Given the description of an element on the screen output the (x, y) to click on. 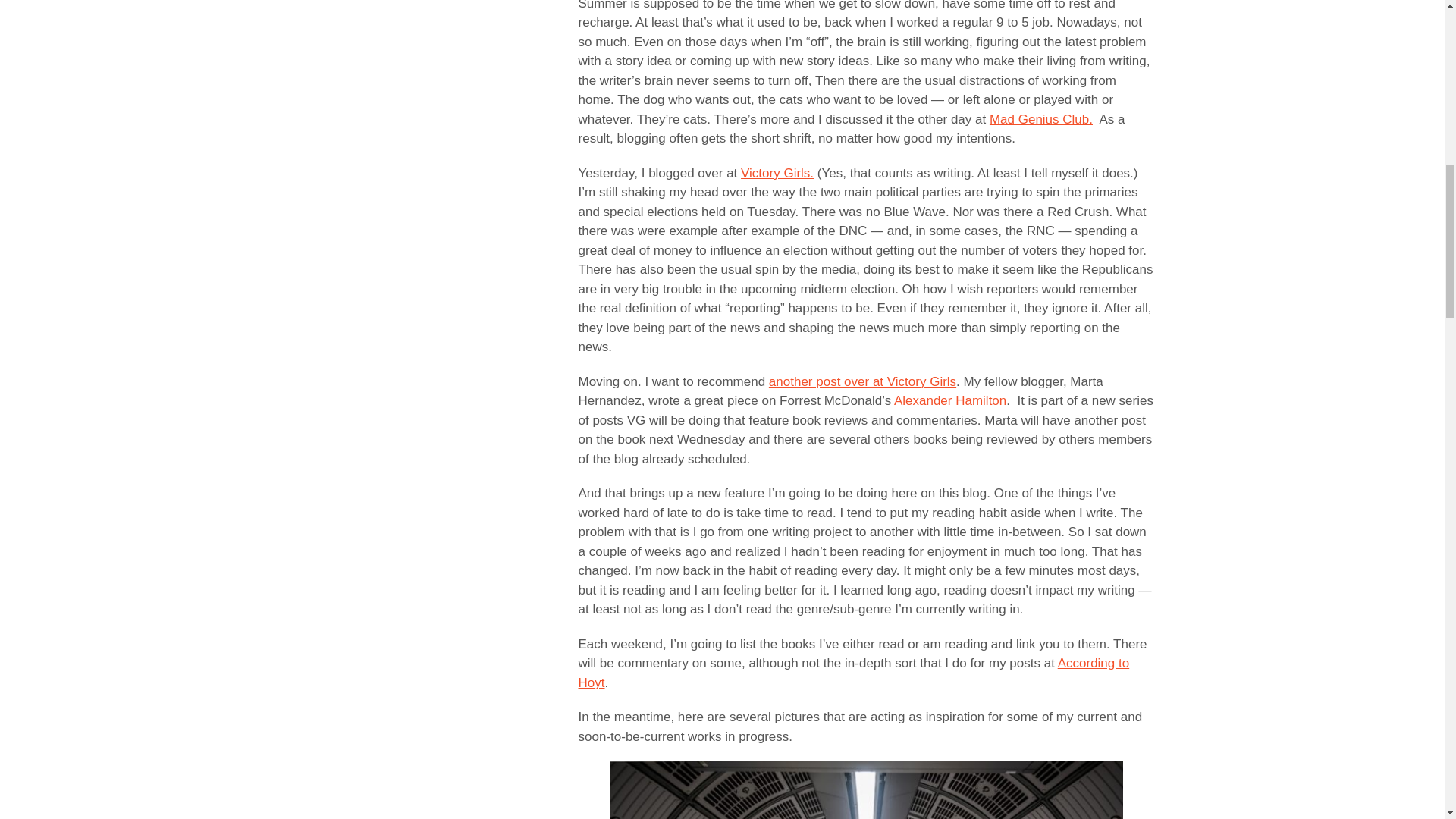
Mad Genius Club. (1041, 119)
According to Hoyt (853, 673)
another post over at Victory Girls (862, 381)
Victory Girls. (777, 173)
Alexander Hamilton (949, 400)
